Given the description of an element on the screen output the (x, y) to click on. 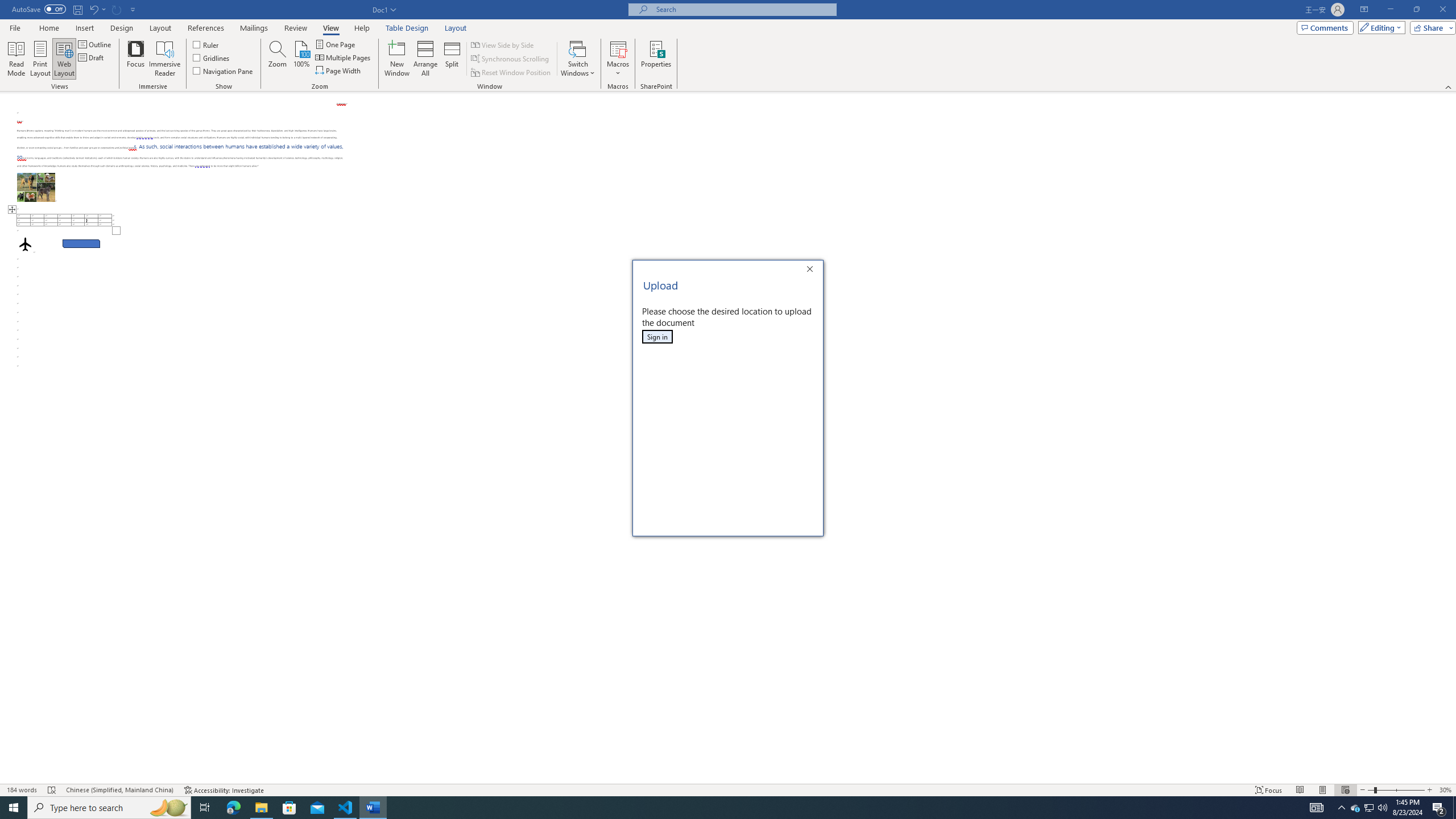
Show desktop (1454, 807)
Close (812, 270)
References (205, 28)
Reset Window Position (511, 72)
Review (295, 28)
Gridlines (211, 56)
Start (13, 807)
One Page (335, 44)
Mailings (253, 28)
Focus  (1368, 807)
Navigation Pane (1268, 790)
AutomationID: 4105 (223, 69)
